Given the description of an element on the screen output the (x, y) to click on. 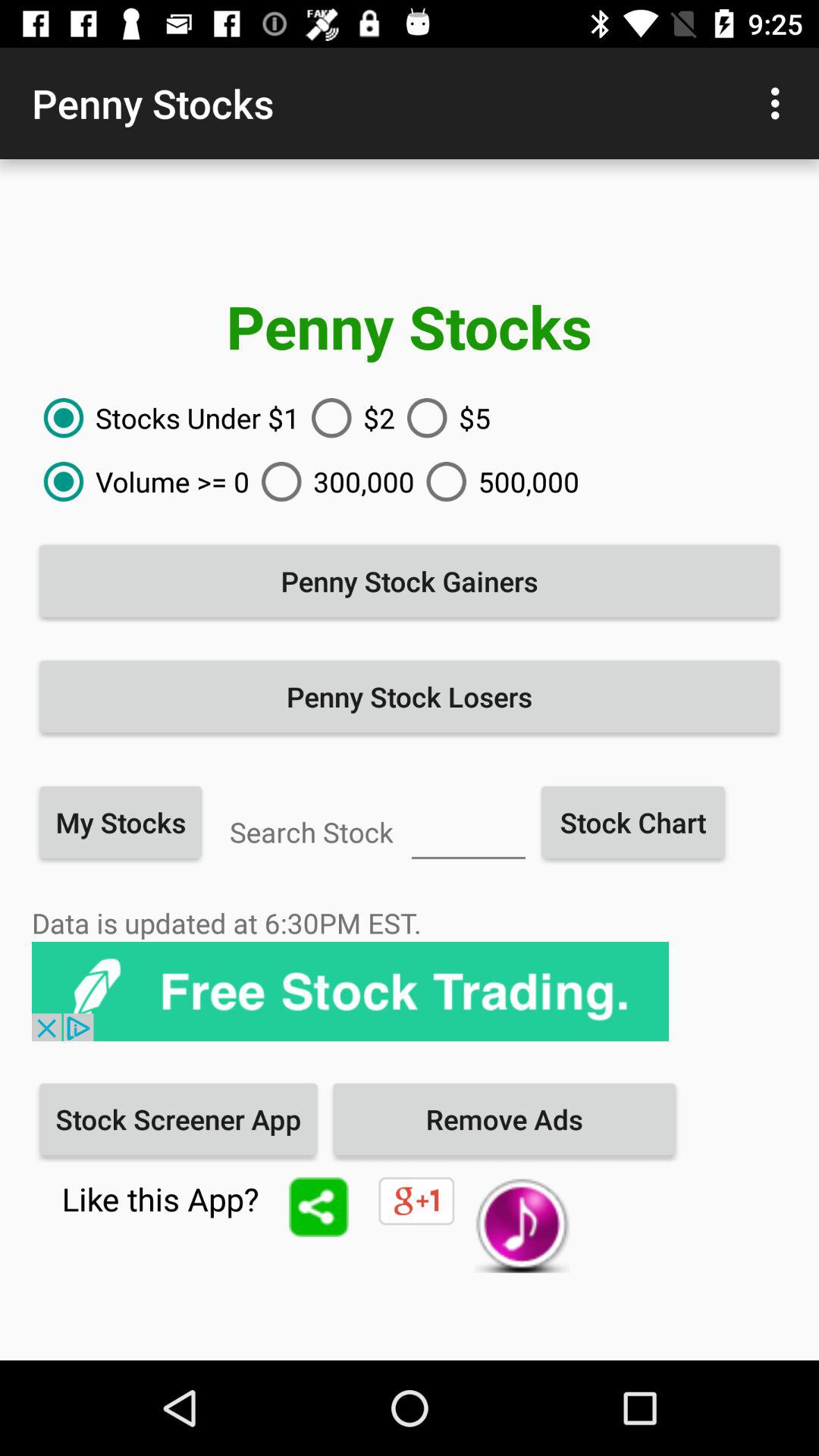
enter the stock name (468, 829)
